Given the description of an element on the screen output the (x, y) to click on. 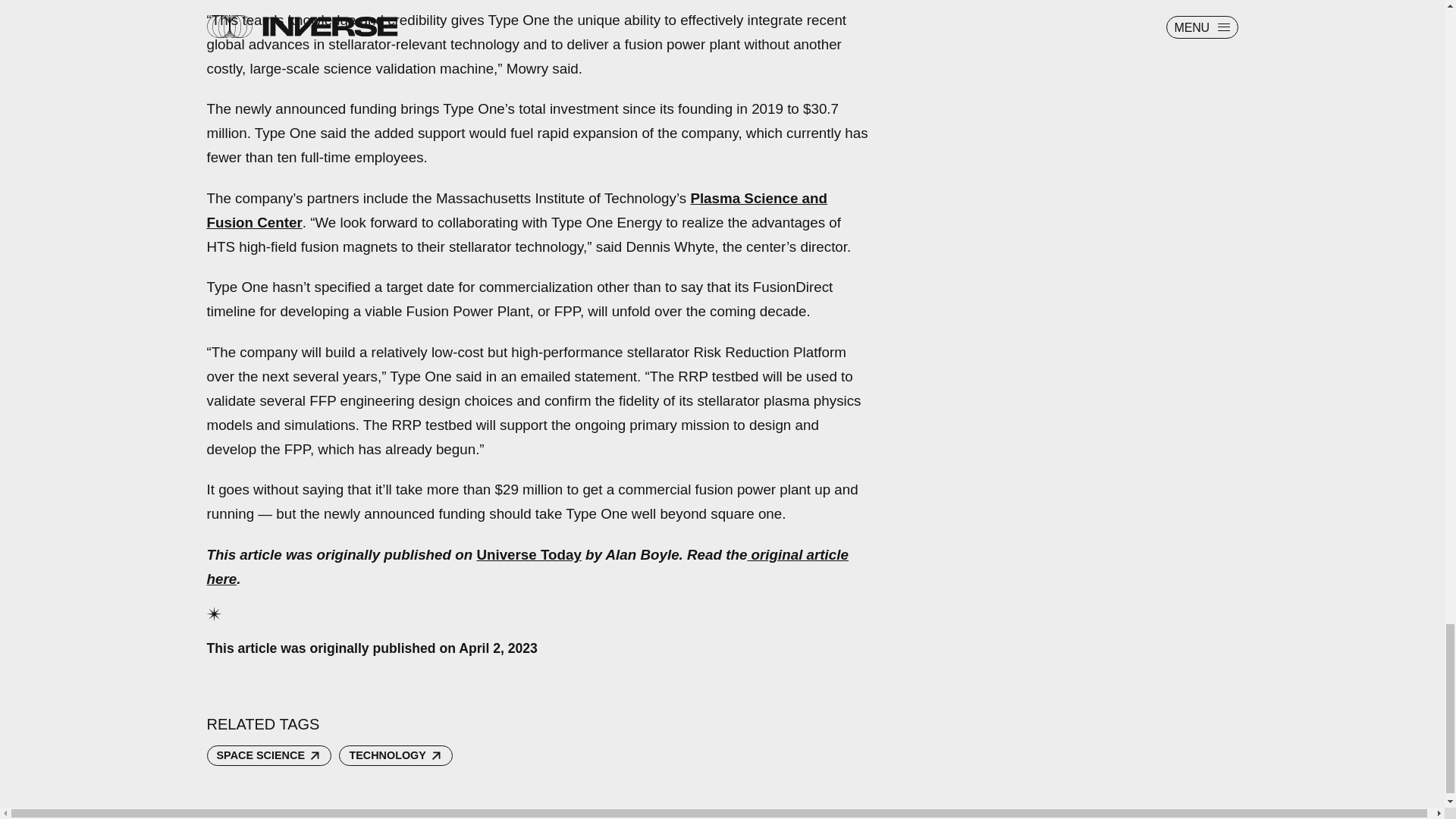
SPACE SCIENCE (268, 755)
Plasma Science and Fusion Center (516, 210)
TECHNOLOGY (395, 755)
Universe Today (528, 554)
original article here (526, 567)
